Given the description of an element on the screen output the (x, y) to click on. 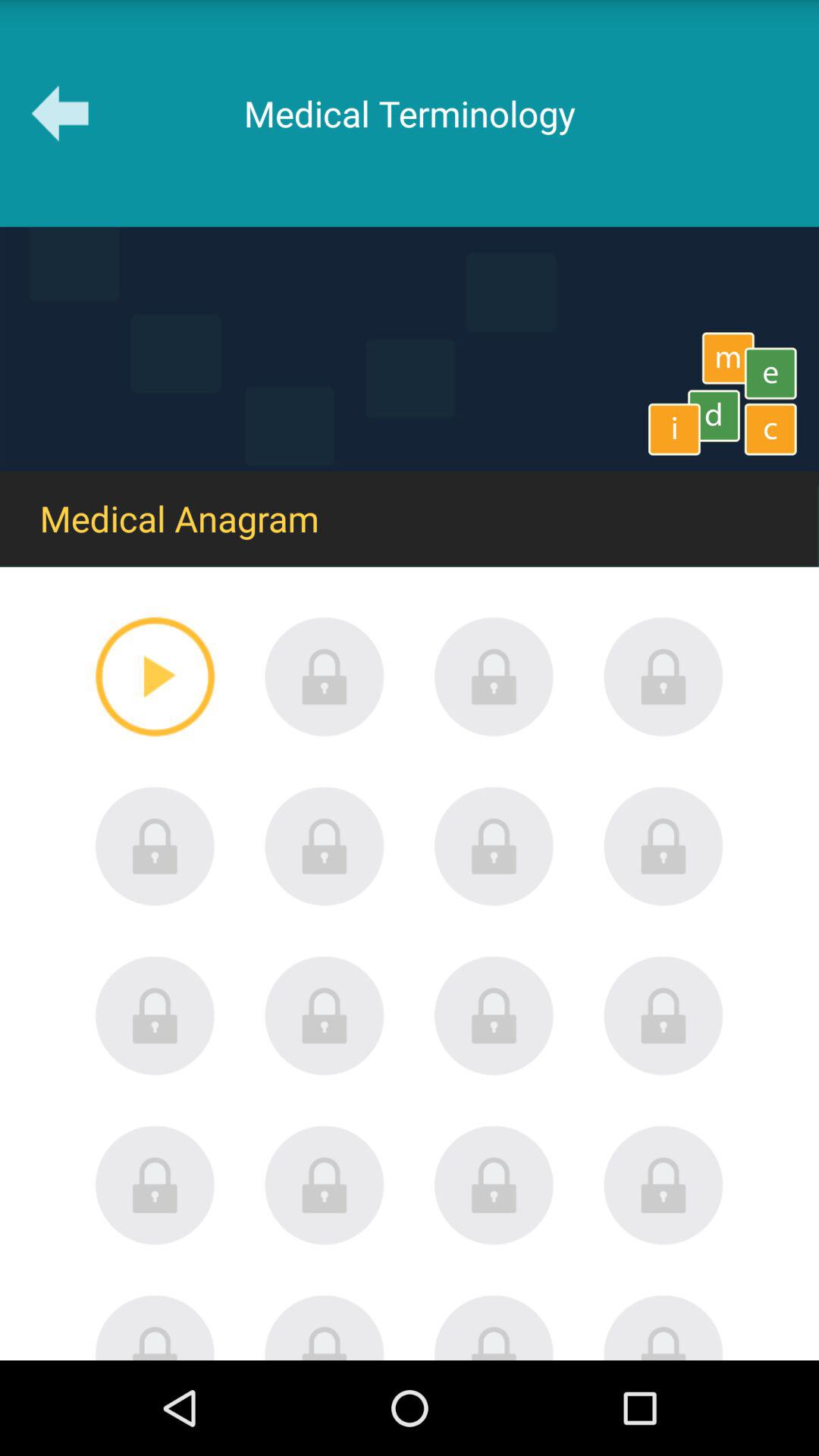
select locked option (154, 1327)
